Given the description of an element on the screen output the (x, y) to click on. 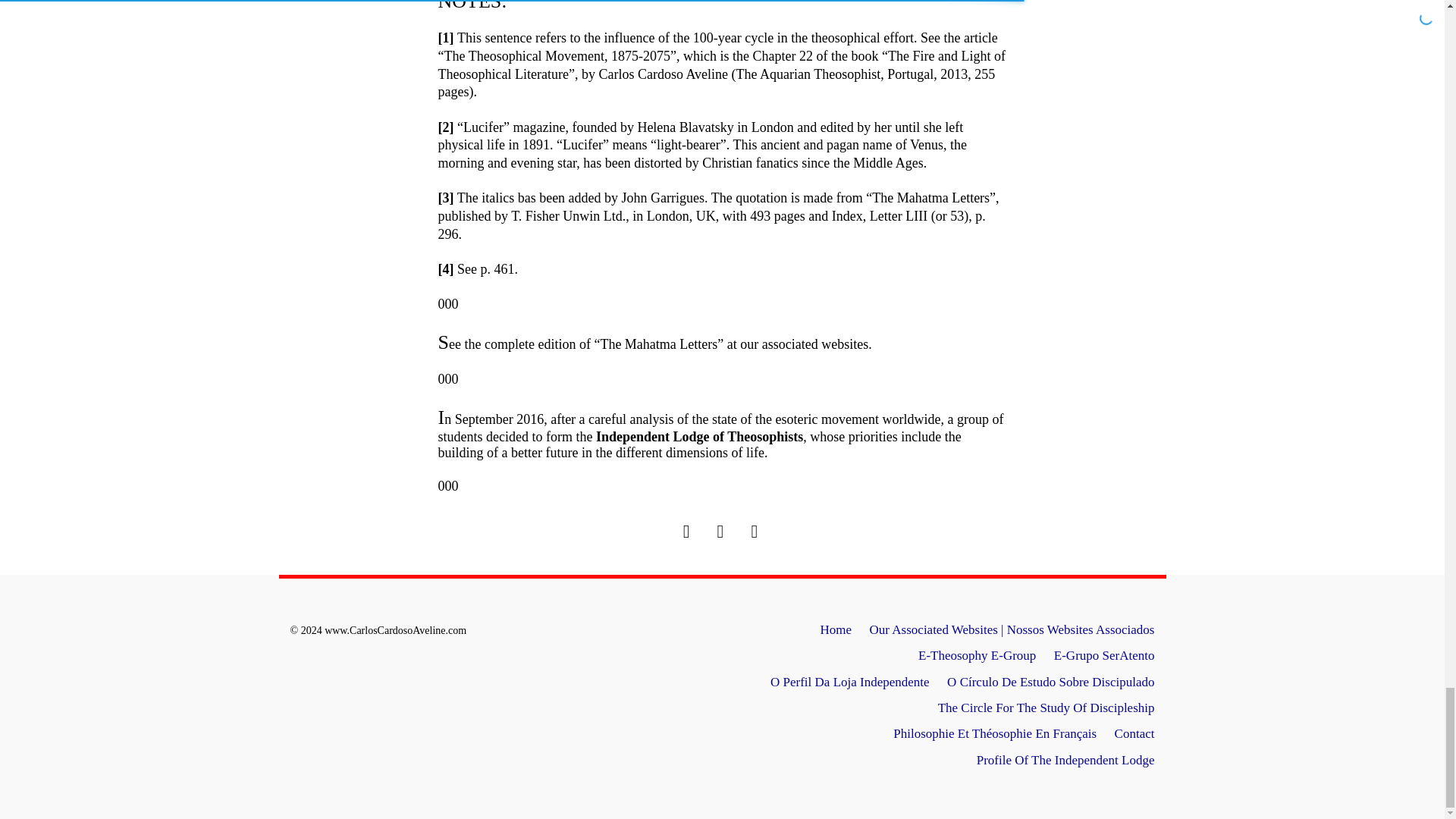
Home (836, 629)
E-Theosophy E-Group (976, 655)
E-Grupo SerAtento (1104, 655)
O Perfil Da Loja Independente (850, 681)
